Given the description of an element on the screen output the (x, y) to click on. 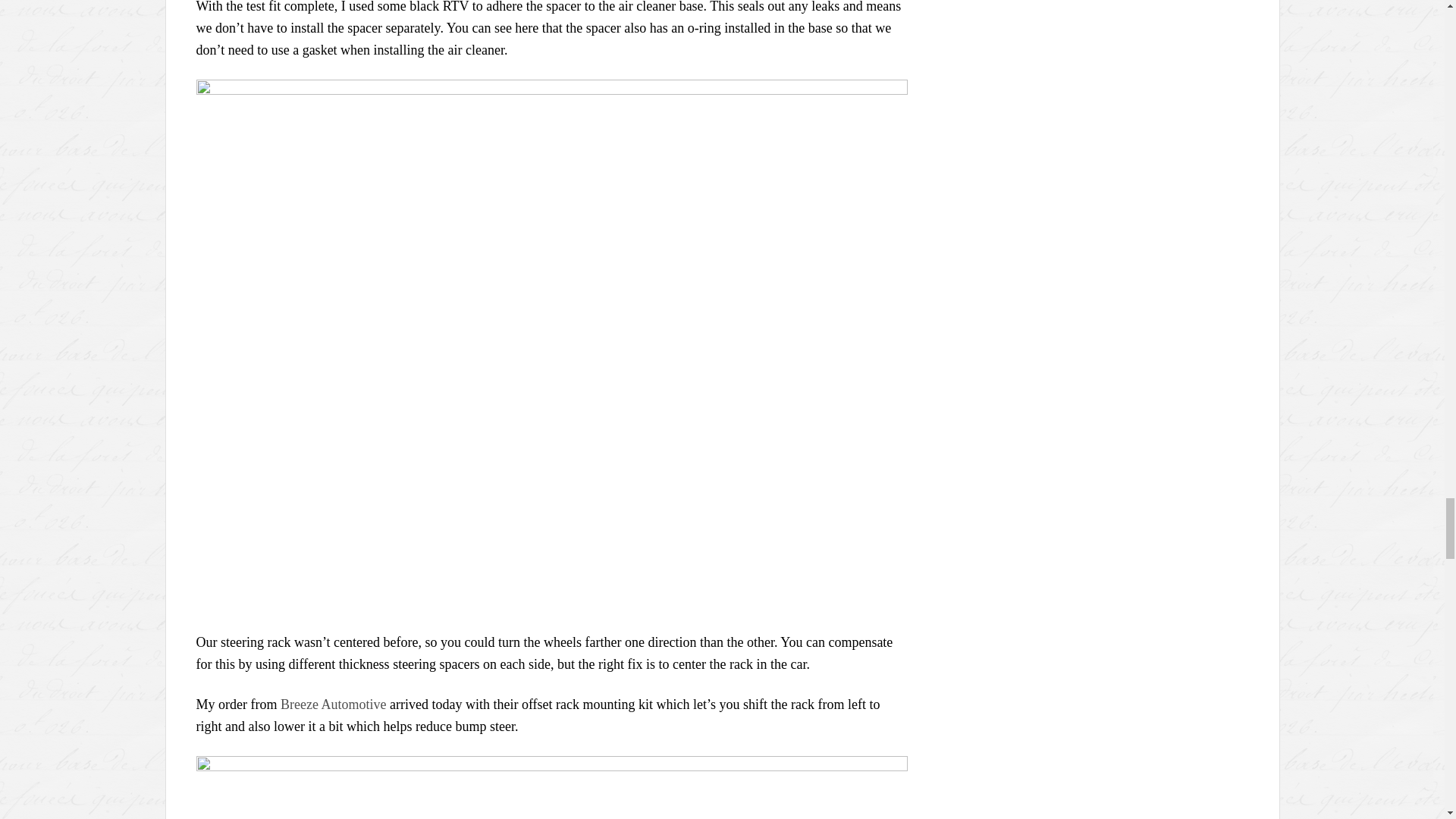
Breeze Automotive (333, 703)
